Given the description of an element on the screen output the (x, y) to click on. 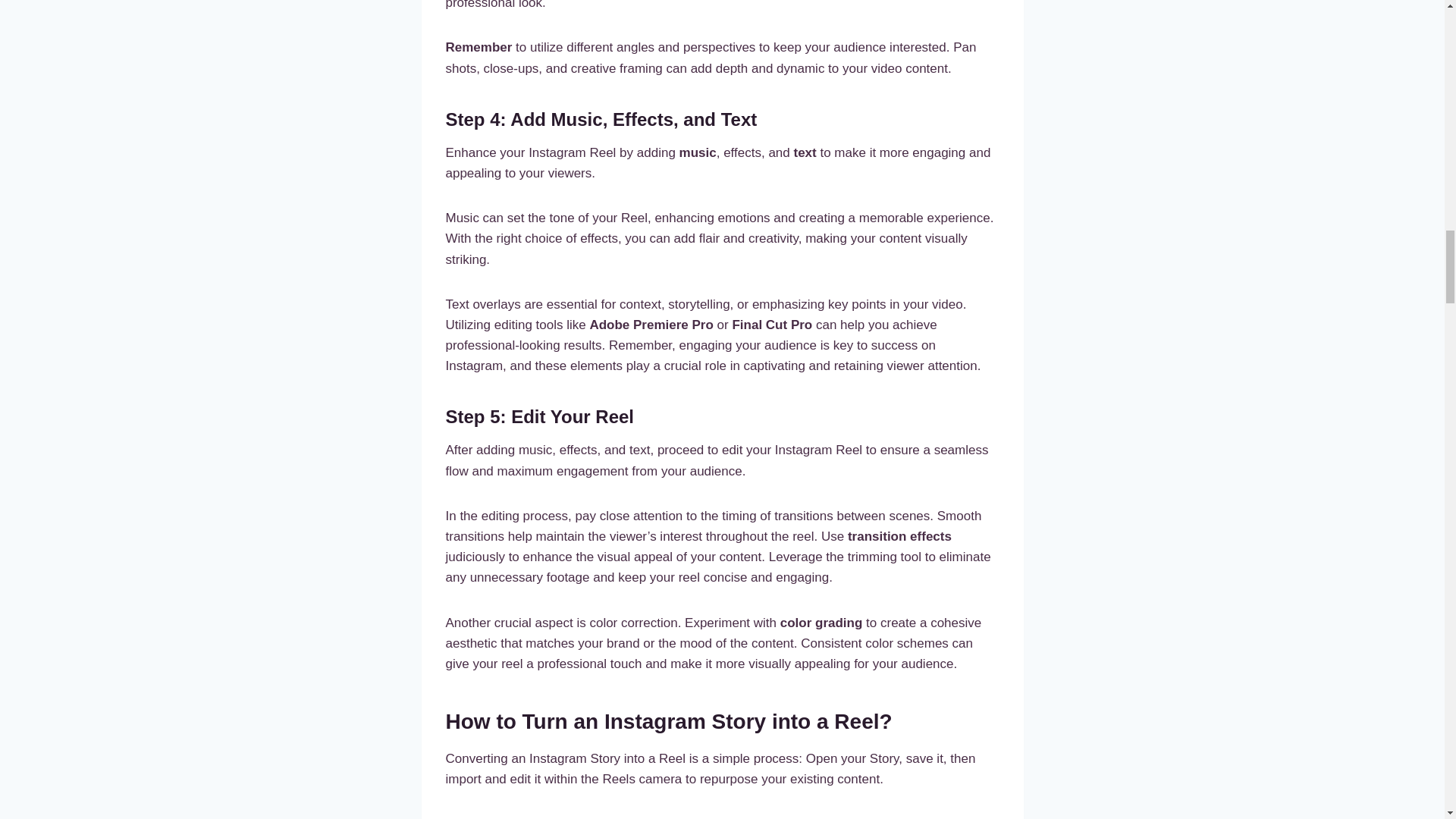
Story into a Reel (710, 818)
